Given the description of an element on the screen output the (x, y) to click on. 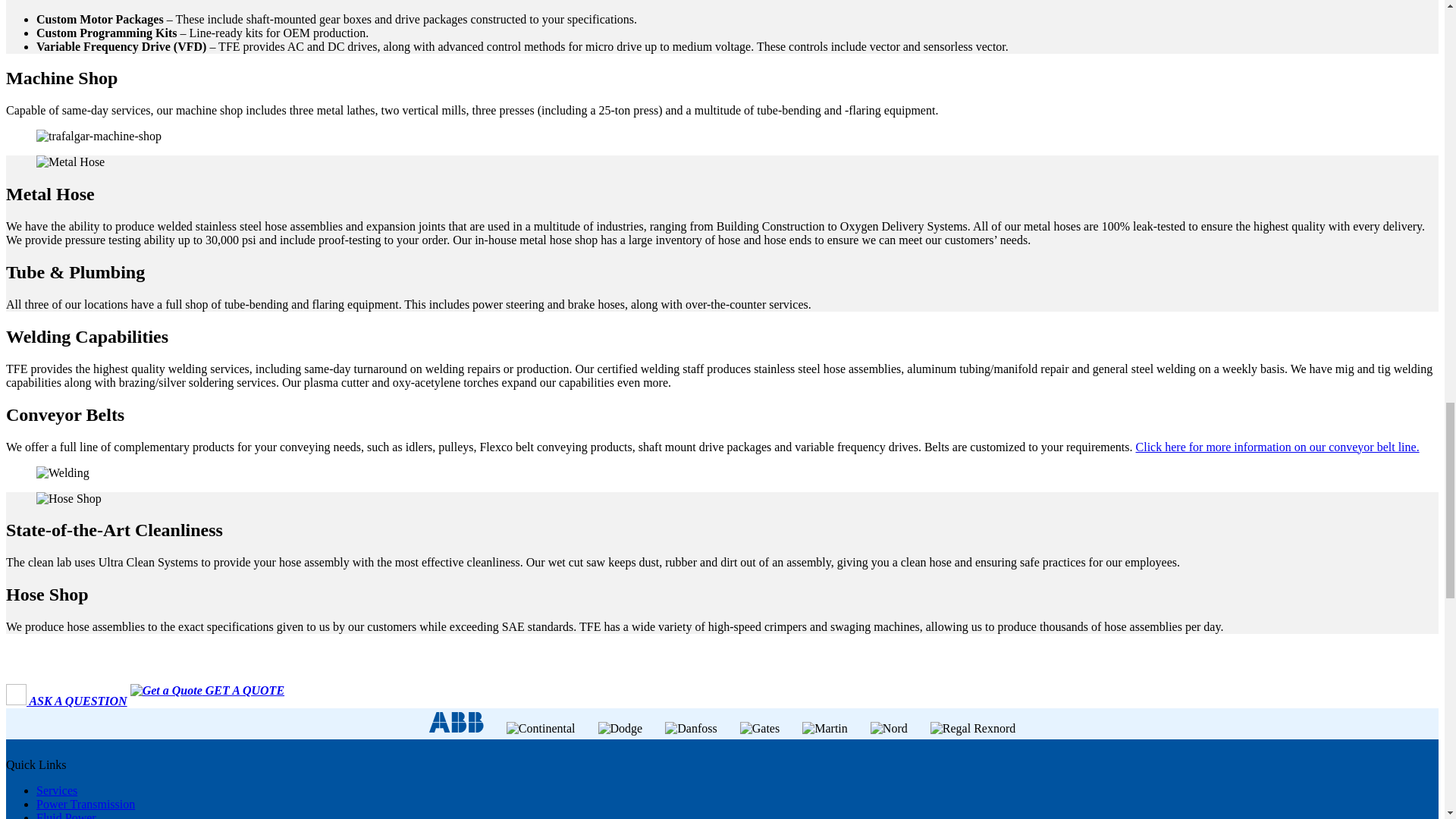
Hose Shop (68, 499)
Metal Hose (70, 161)
trafalgar-machine-shop (98, 136)
Welding (62, 472)
